Given the description of an element on the screen output the (x, y) to click on. 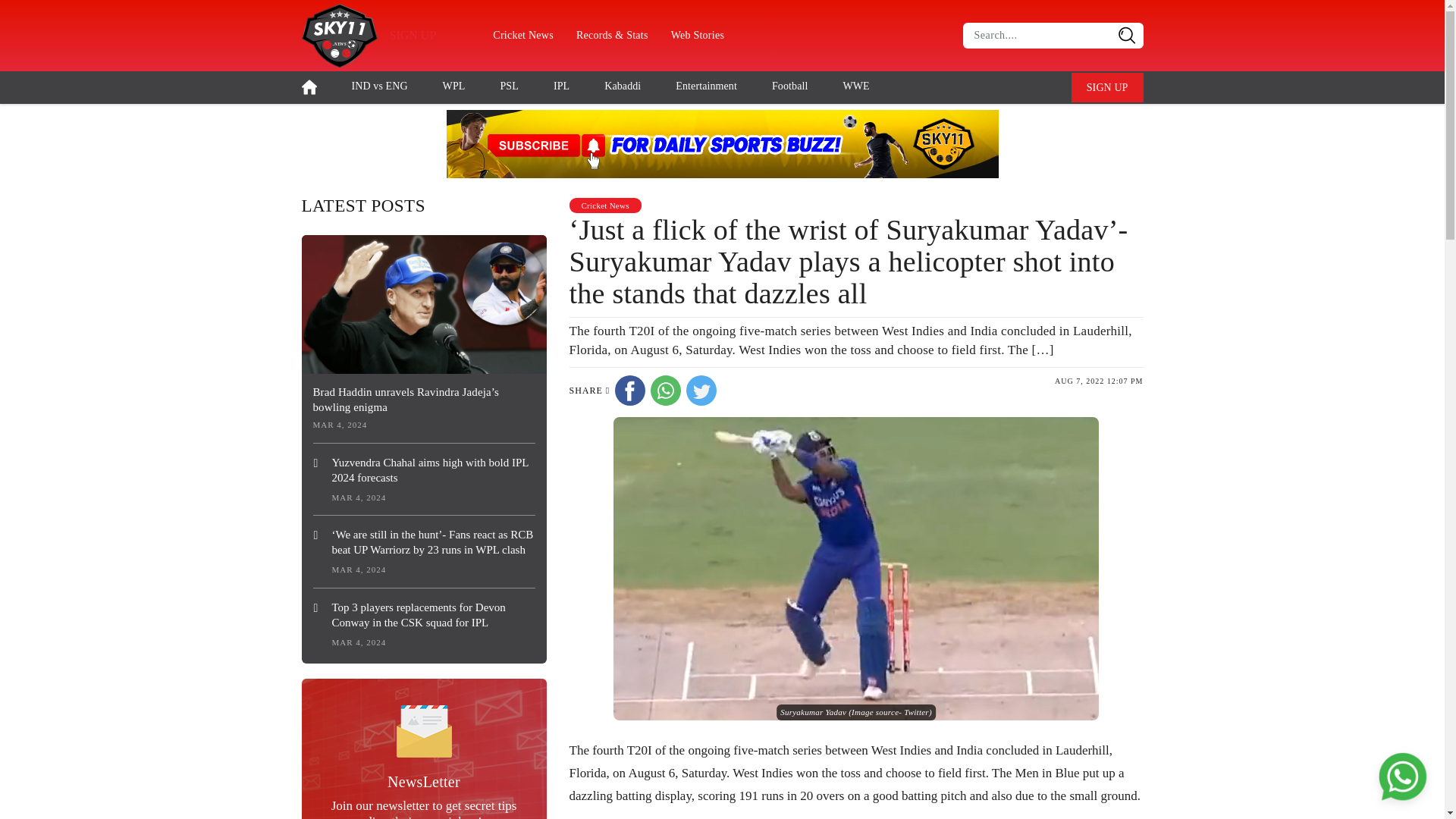
Yuzvendra Chahal aims high with bold IPL 2024 forecasts (423, 470)
Entertainment (705, 85)
PSL (508, 85)
Kabaddi (622, 85)
Cricket News (604, 204)
Cricket News (522, 35)
SIGN UP (1106, 87)
WPL (453, 85)
WWE (856, 85)
